Given the description of an element on the screen output the (x, y) to click on. 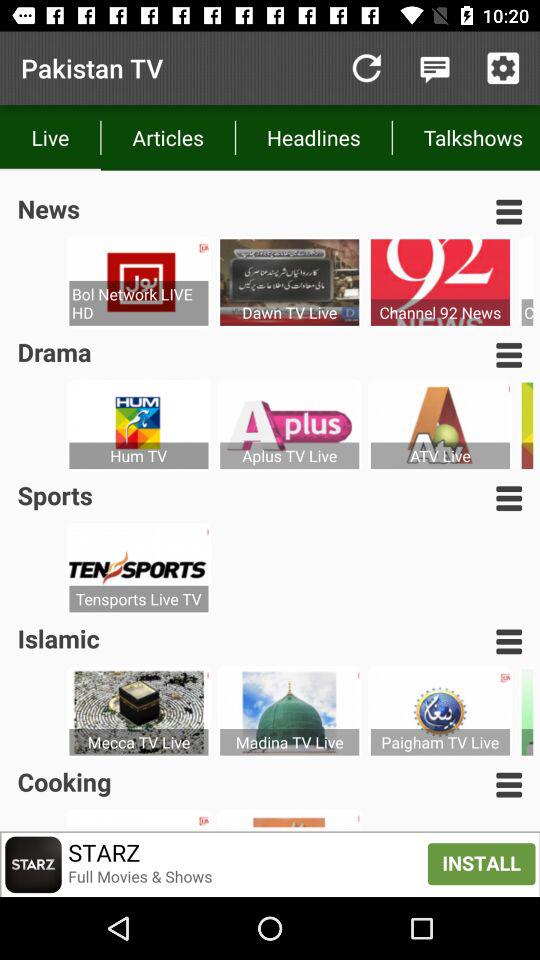
chat with us (434, 67)
